Given the description of an element on the screen output the (x, y) to click on. 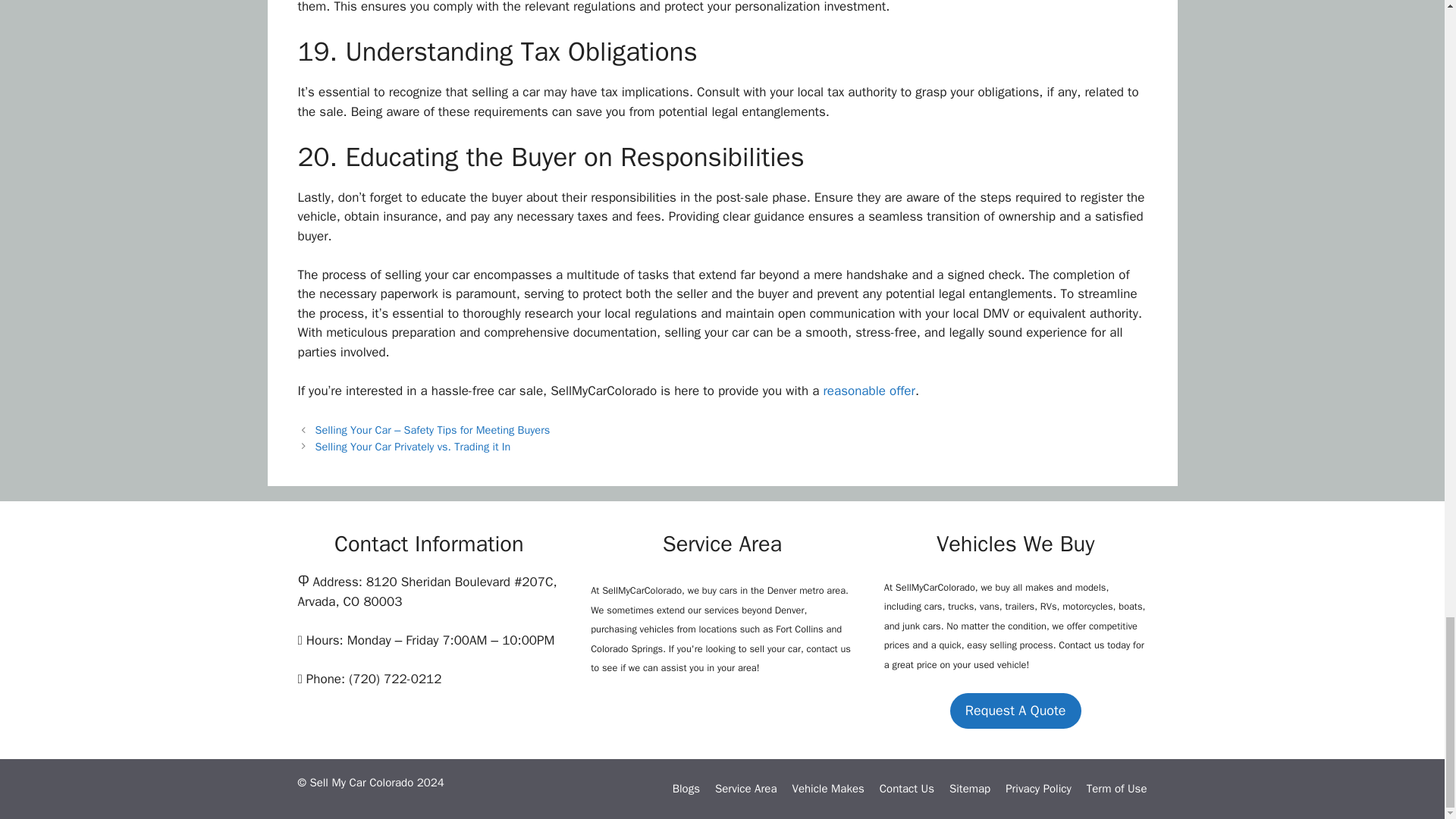
Service Area (745, 788)
Vehicle Makes (827, 788)
Sitemap (969, 788)
Blogs (686, 788)
Contact Us (906, 788)
Privacy Policy (1038, 788)
Term of Use (1116, 788)
Request A Quote (1015, 710)
reasonable offer (868, 390)
Selling Your Car Privately vs. Trading it In (413, 446)
